Given the description of an element on the screen output the (x, y) to click on. 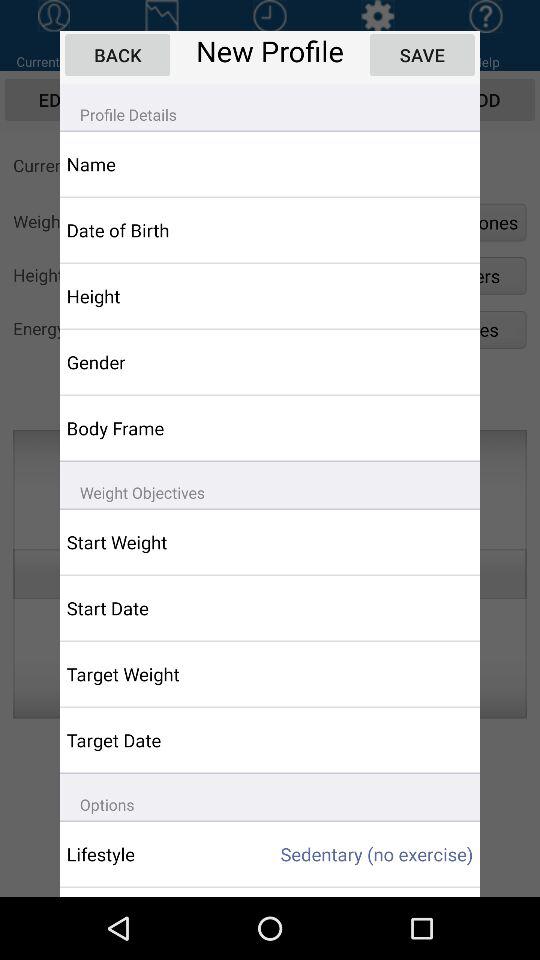
press app below weight objectives icon (156, 541)
